Given the description of an element on the screen output the (x, y) to click on. 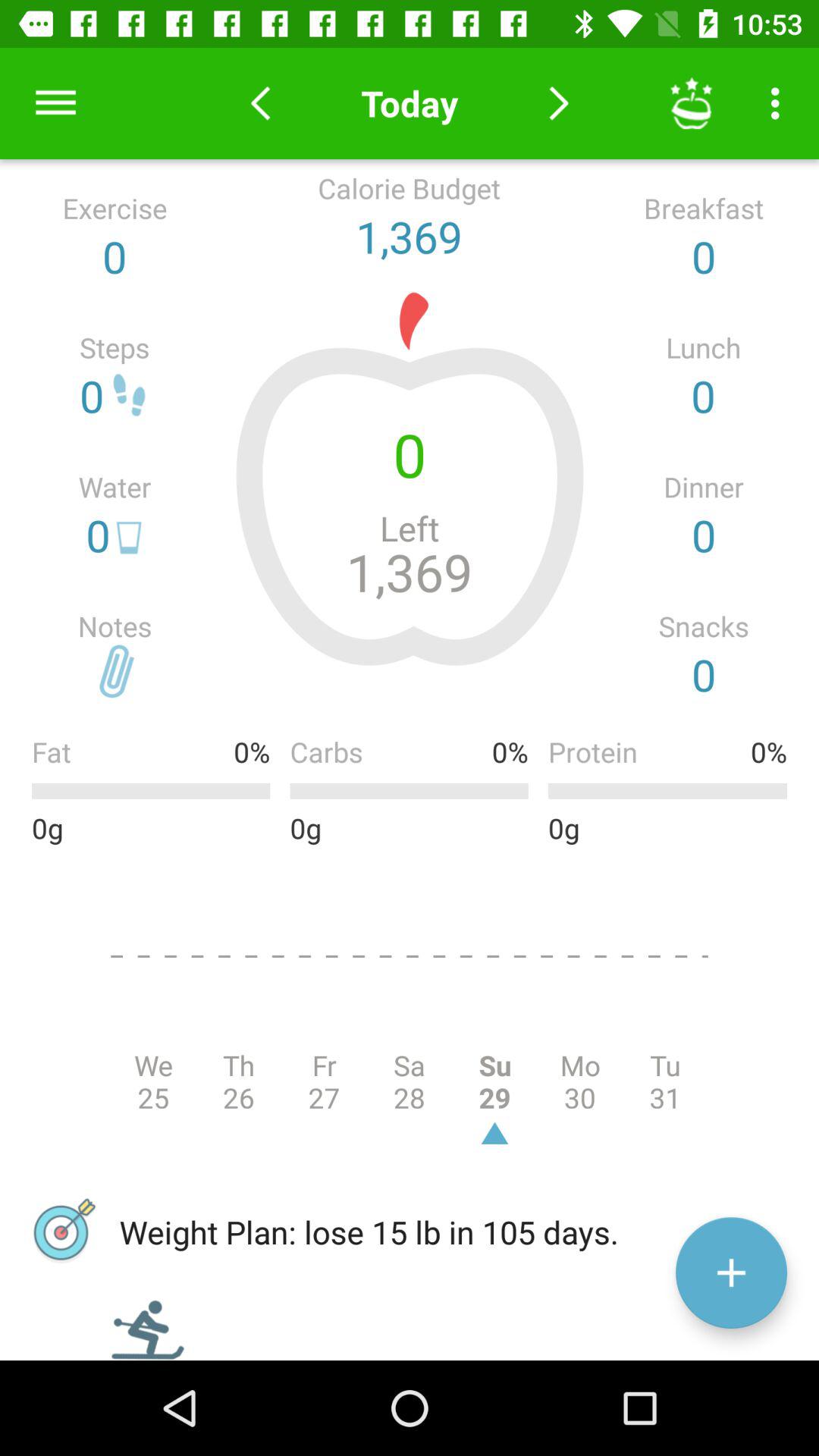
go back (260, 103)
